Given the description of an element on the screen output the (x, y) to click on. 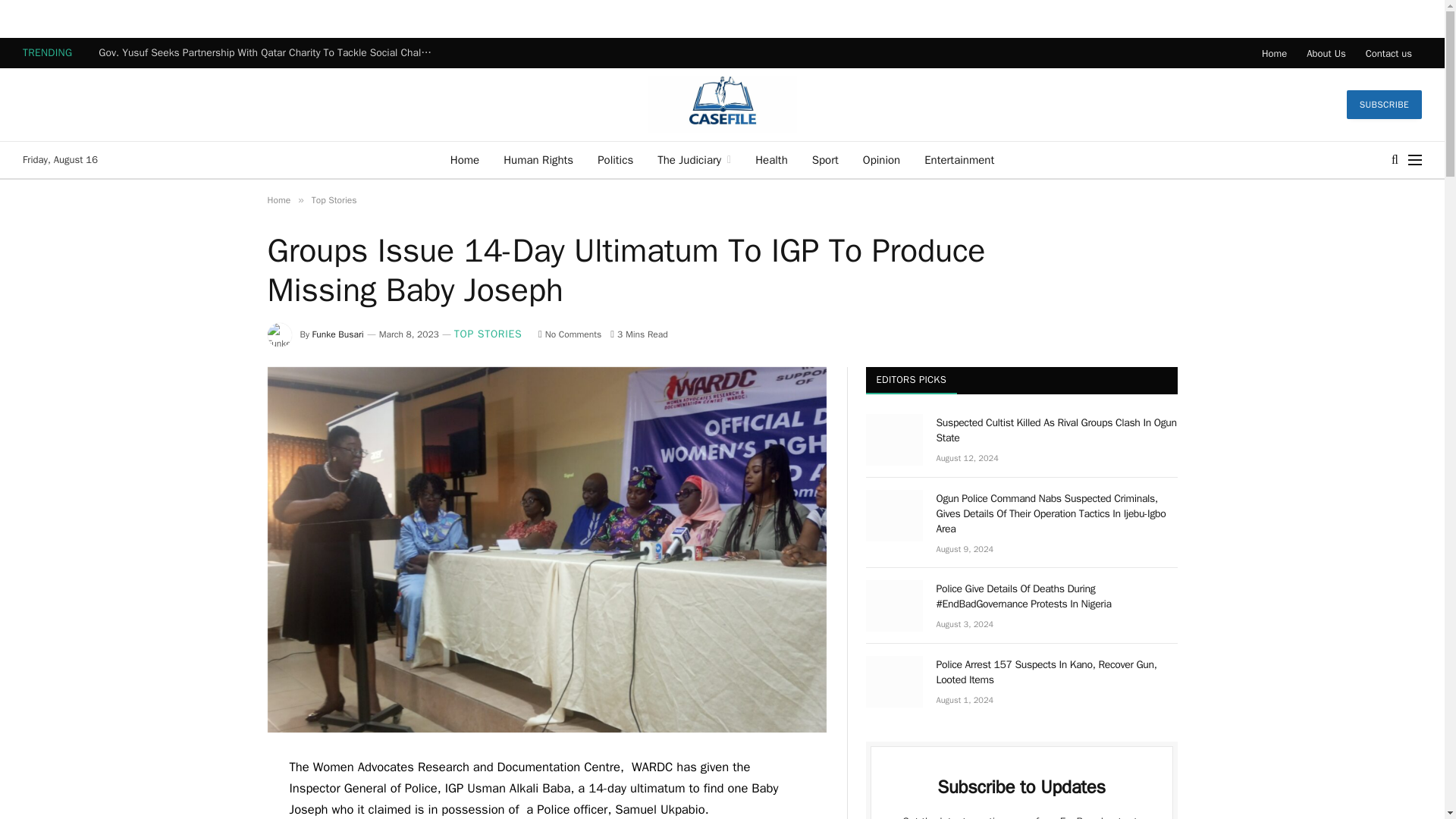
Entertainment (959, 159)
About Us (1326, 52)
Home (1274, 52)
Posts by Funke Busari (338, 334)
Health (770, 159)
SUBSCRIBE (1384, 104)
Funke Busari (338, 334)
Top Stories (333, 200)
Sport (824, 159)
